Given the description of an element on the screen output the (x, y) to click on. 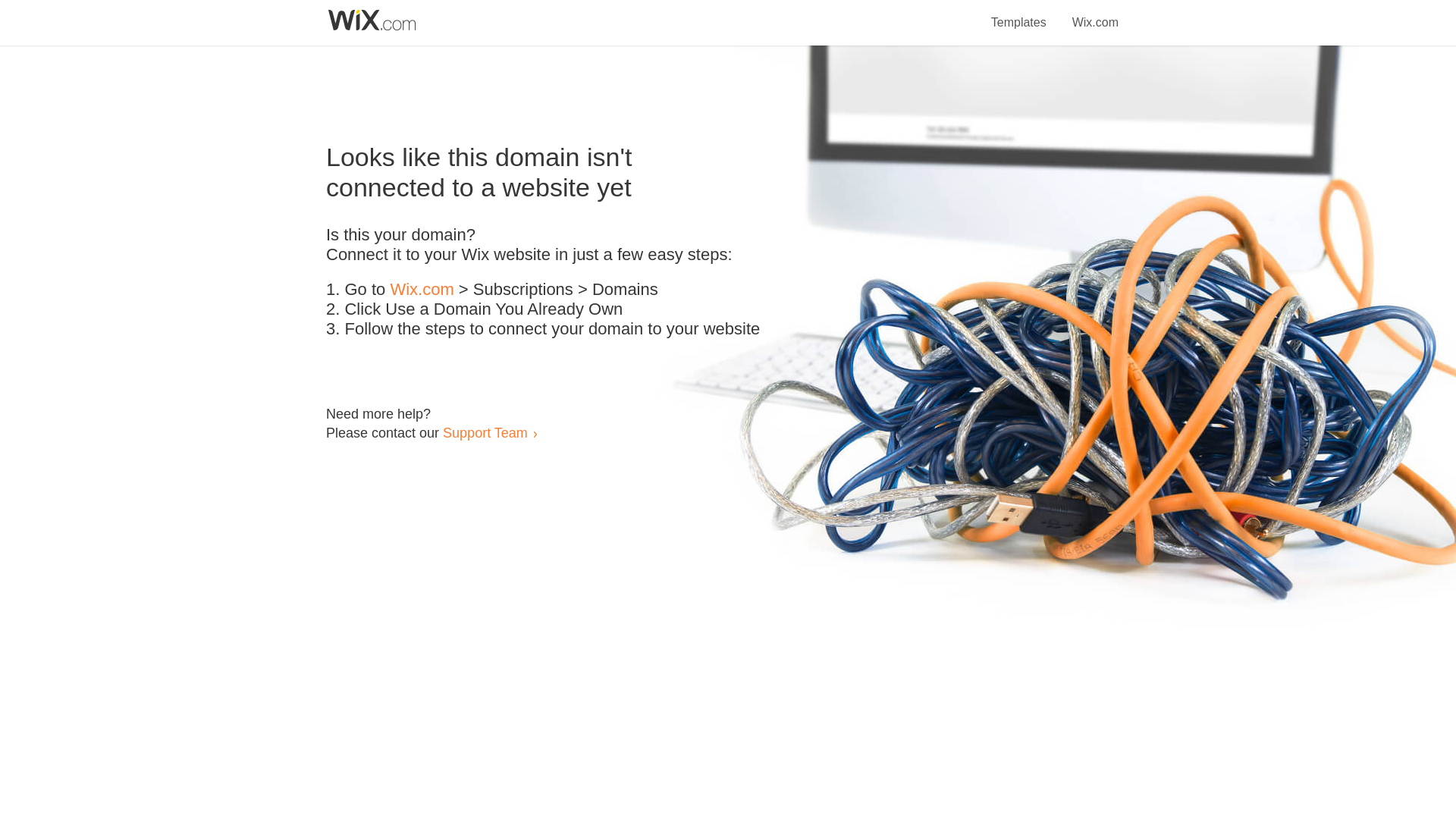
Support Team (484, 432)
Wix.com (1095, 14)
Templates (1018, 14)
Wix.com (421, 289)
